Given the description of an element on the screen output the (x, y) to click on. 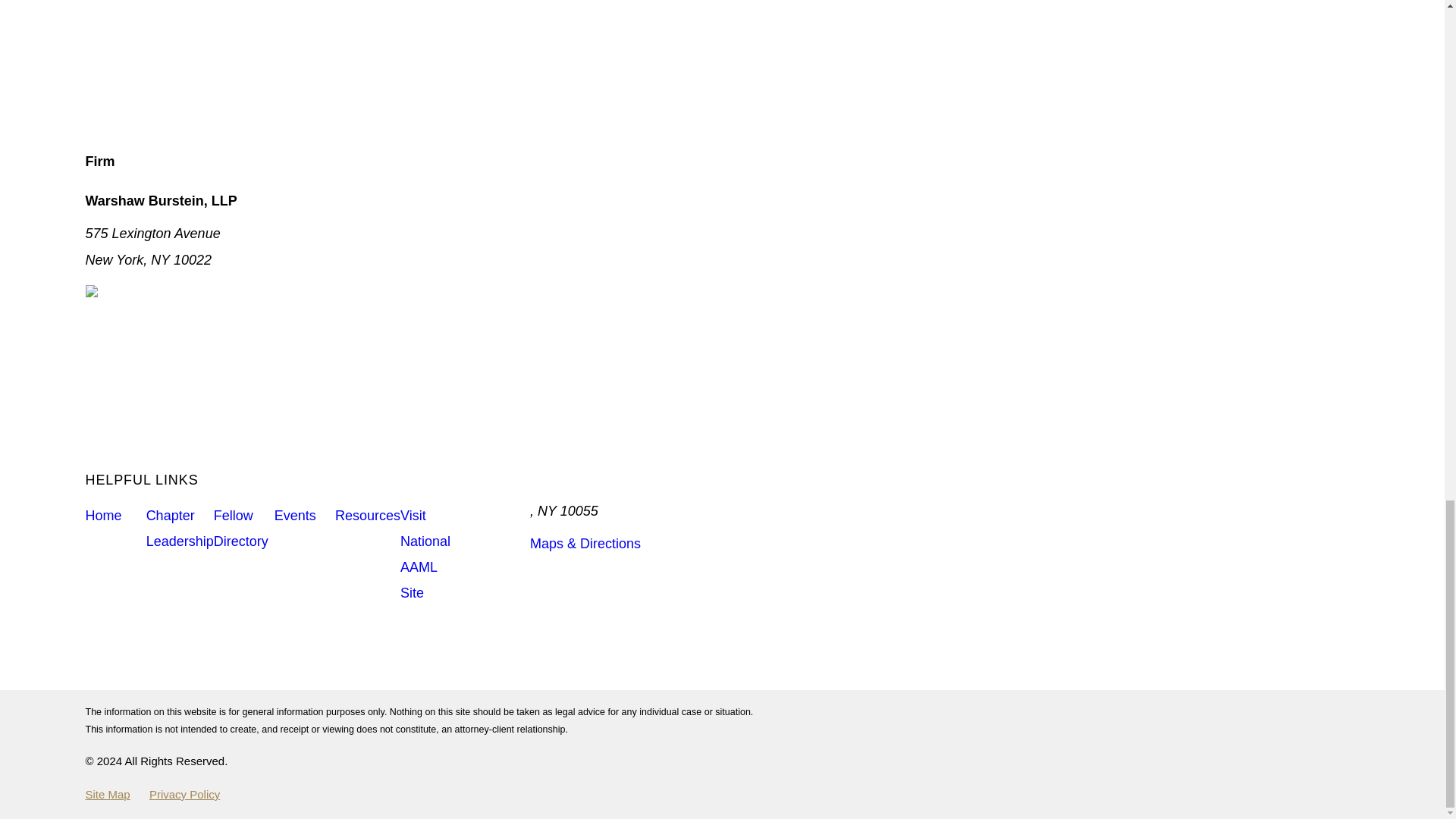
Privacy Policy (184, 793)
Site Map (106, 793)
Website Icon (283, 60)
Home (114, 515)
Chapter Leadership (180, 528)
Events (304, 515)
Resources (367, 515)
Fellow Directory (244, 528)
